Given the description of an element on the screen output the (x, y) to click on. 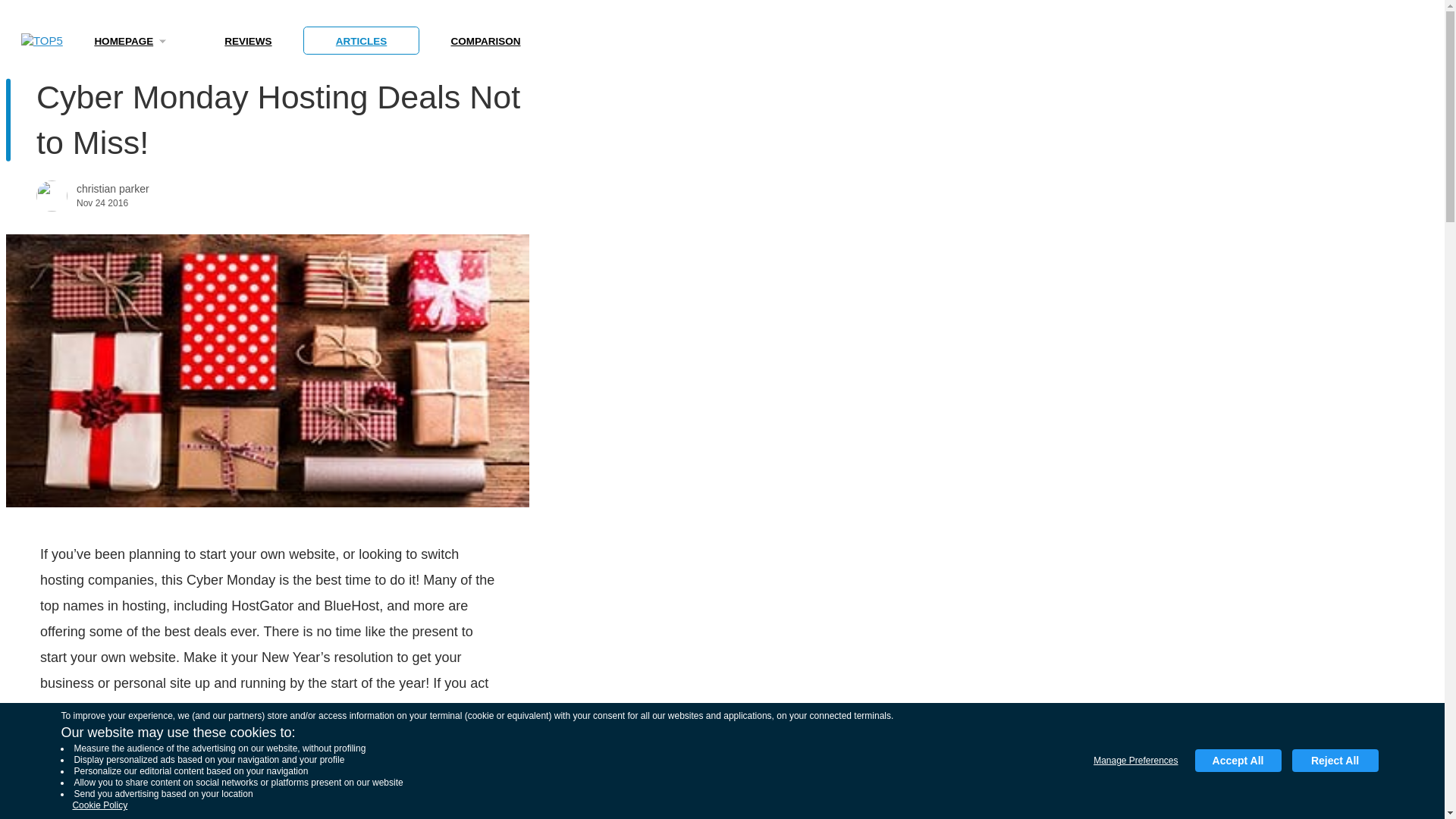
HOMEPAGE (127, 40)
REVIEWS (248, 40)
Manage Preferences (1135, 760)
Cookie Policy (99, 805)
ARTICLES (360, 40)
Accept All (1238, 760)
website builders (218, 761)
COMPARISON (486, 40)
Reject All (1335, 760)
